Given the description of an element on the screen output the (x, y) to click on. 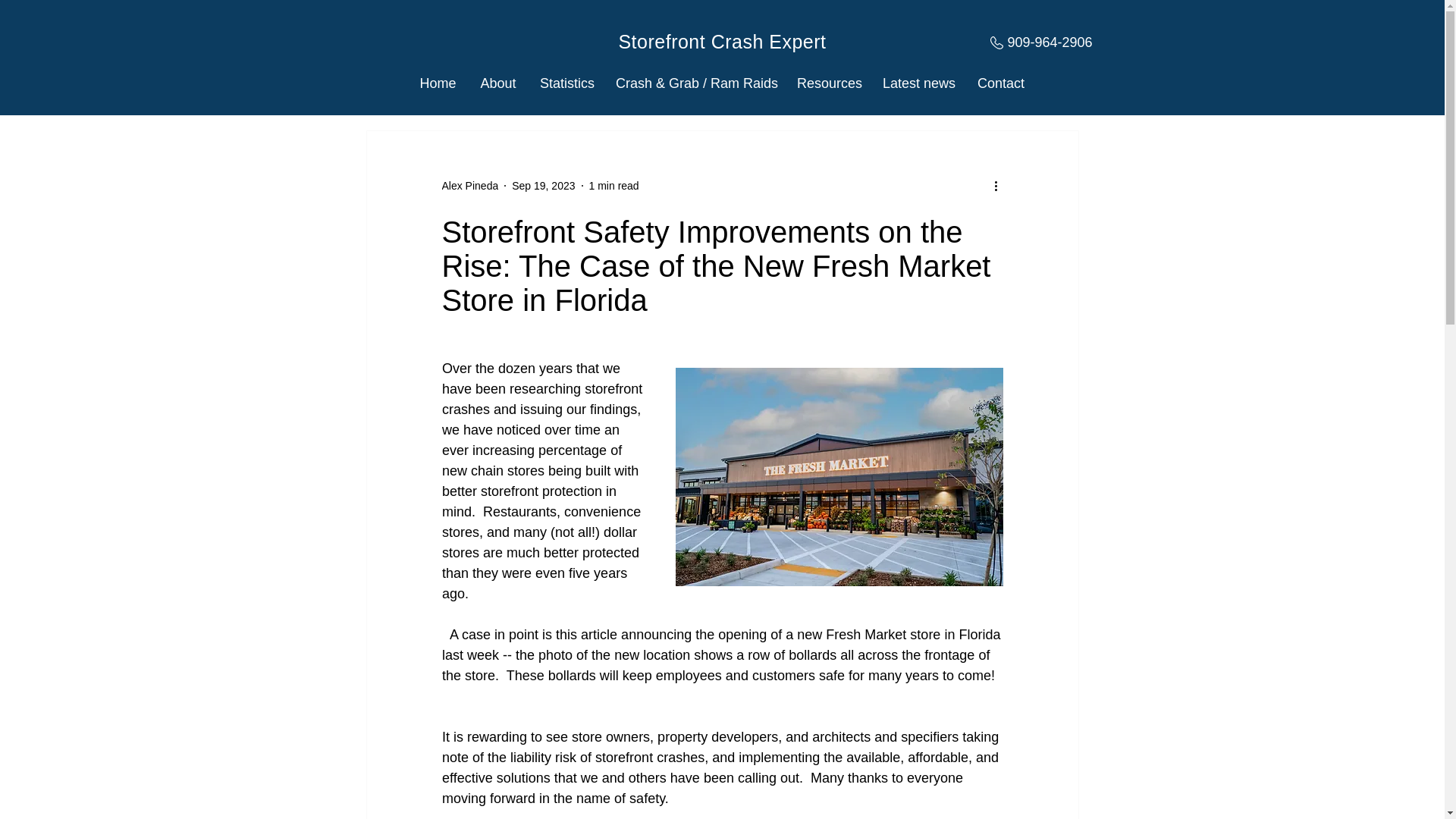
Statistics (566, 83)
909-964-2906 (1049, 42)
Home (437, 83)
Latest news (917, 83)
Contact (1000, 83)
About (497, 83)
1 min read (614, 184)
Alex Pineda (469, 185)
Resources (828, 83)
Alex Pineda (469, 185)
Storefront Crash Expert (721, 41)
Sep 19, 2023 (543, 184)
